Given the description of an element on the screen output the (x, y) to click on. 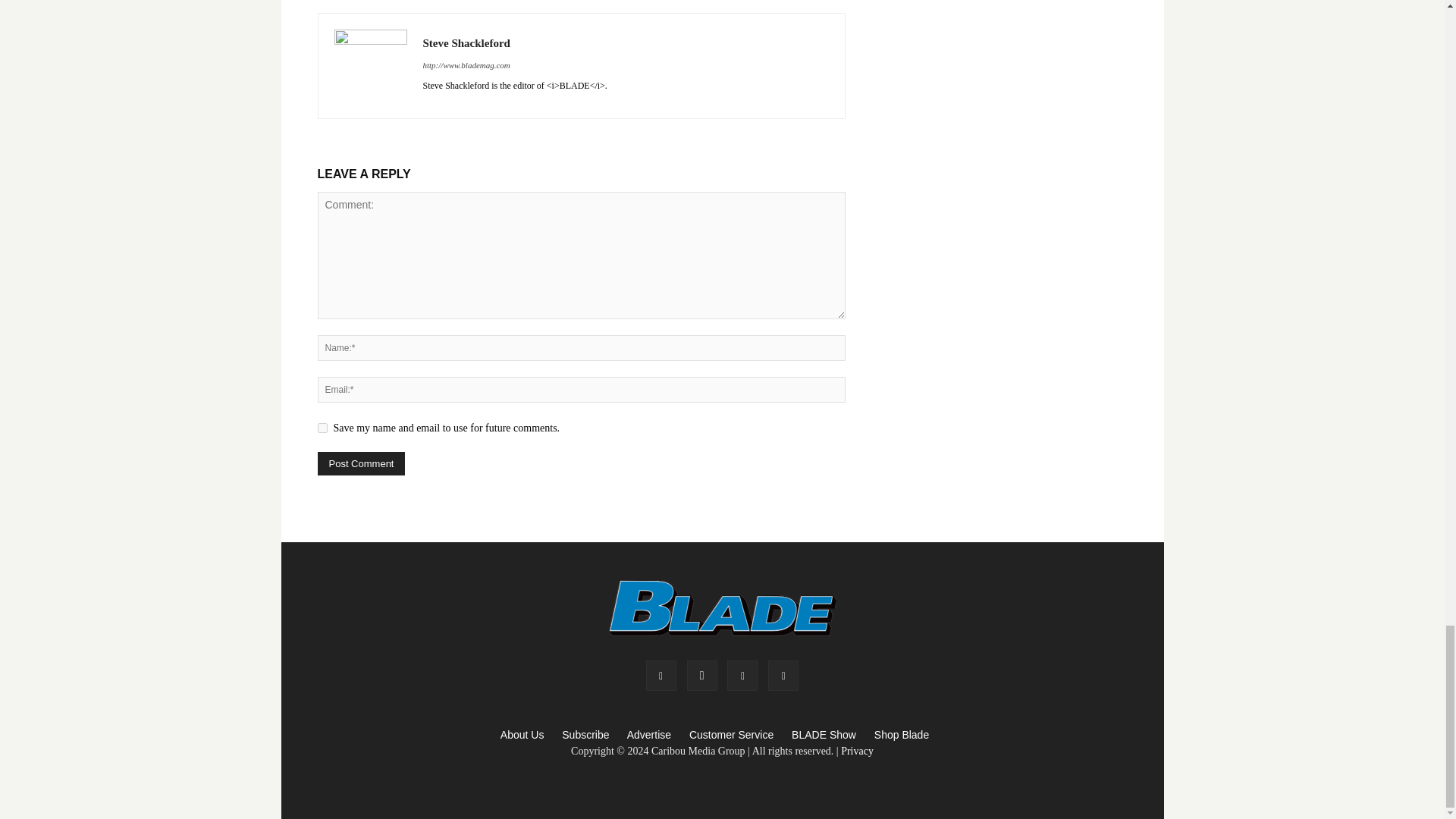
Post Comment (360, 463)
yes (321, 428)
